Given the description of an element on the screen output the (x, y) to click on. 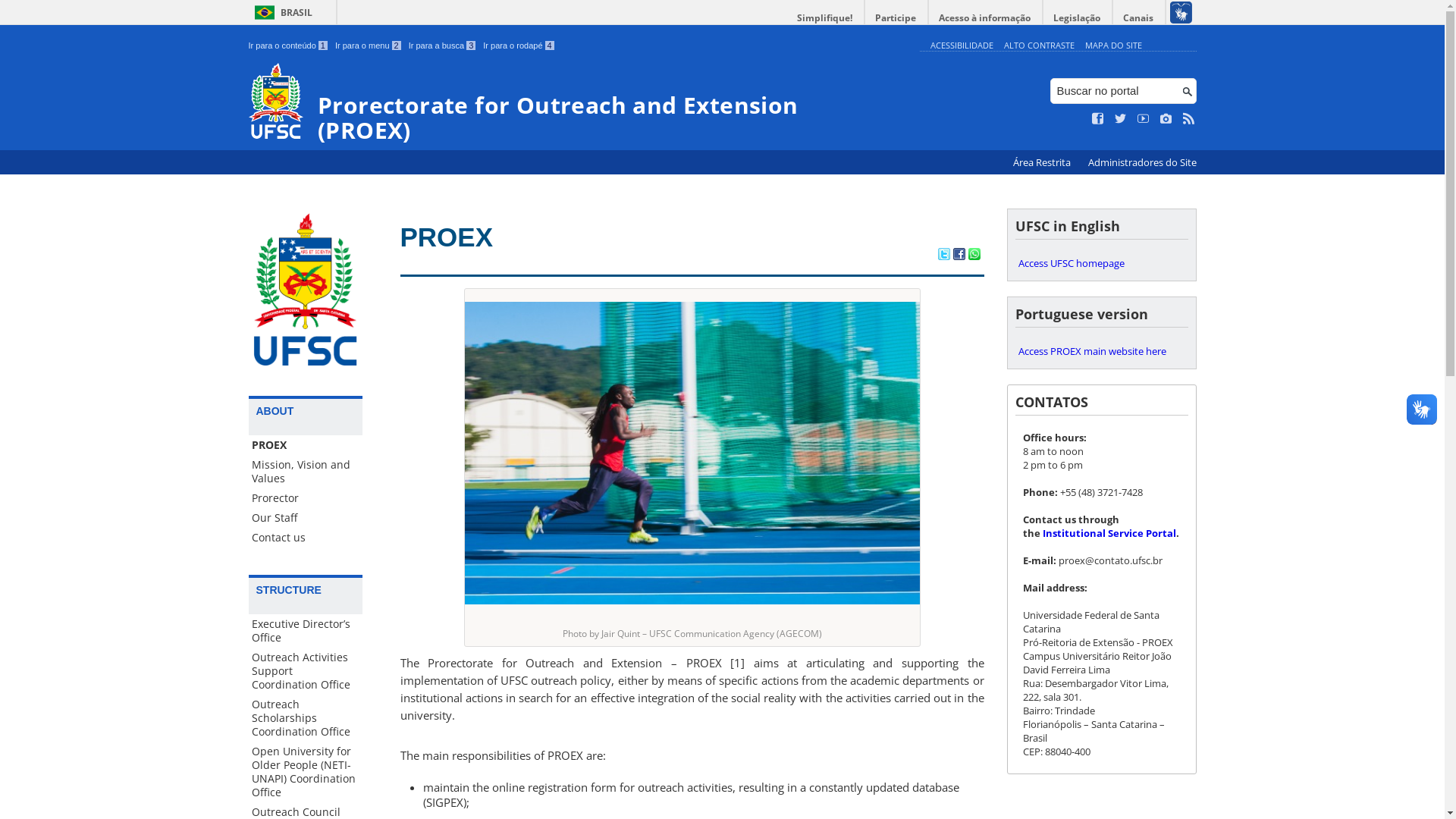
BRASIL Element type: text (280, 12)
Contact us Element type: text (305, 537)
Canais Element type: text (1138, 18)
MAPA DO SITE Element type: text (1112, 44)
Veja no Instagram Element type: hover (1166, 118)
Outreach Scholarships Coordination Office Element type: text (305, 717)
Our Staff Element type: text (305, 517)
PROEX Element type: text (305, 445)
Compartilhar no Facebook Element type: hover (958, 255)
Institutional Service Portal Element type: text (1108, 532)
Siga no Twitter Element type: hover (1120, 118)
Ir para o menu 2 Element type: text (368, 45)
Compartilhar no WhatsApp Element type: hover (973, 255)
Simplifique! Element type: text (825, 18)
Curta no Facebook Element type: hover (1098, 118)
Access UFSC homepage Element type: text (1100, 263)
Prorectorate for Outreach and Extension (PROEX) Element type: text (580, 102)
Mission, Vision and Values Element type: text (305, 471)
Outreach Activities Support Coordination Office Element type: text (305, 670)
ACESSIBILIDADE Element type: text (960, 44)
Prorector Element type: text (305, 498)
ALTO CONTRASTE Element type: text (1039, 44)
Administradores do Site Element type: text (1141, 162)
Participe Element type: text (895, 18)
Access PROEX main website here Element type: text (1100, 350)
Ir para a busca 3 Element type: text (442, 45)
Compartilhar no Twitter Element type: hover (943, 255)
PROEX Element type: text (446, 236)
